Given the description of an element on the screen output the (x, y) to click on. 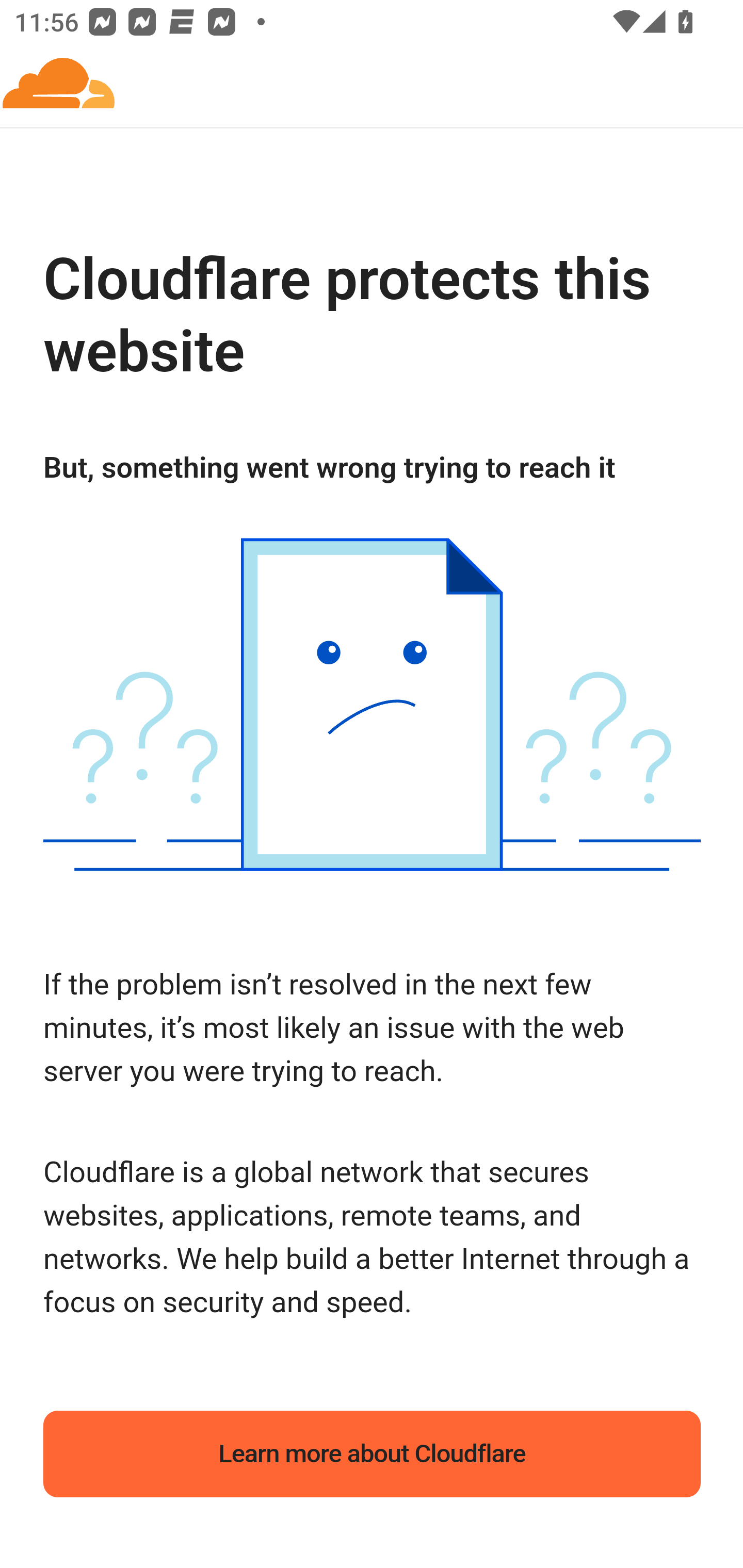
www.cloudflare (59, 84)
Learn more about Cloudflare (372, 1454)
